Given the description of an element on the screen output the (x, y) to click on. 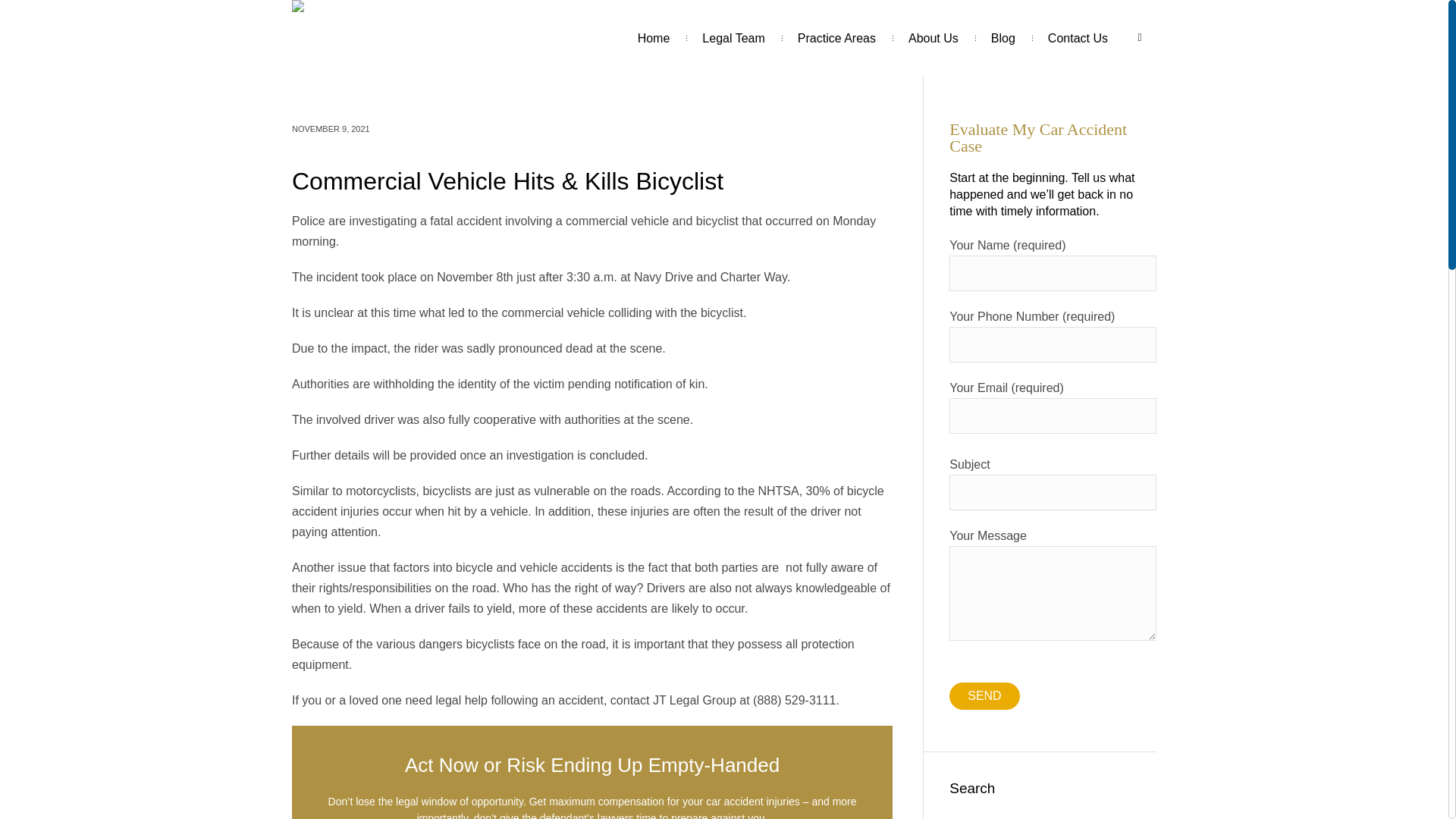
Send (984, 696)
Home (653, 37)
About Us (933, 37)
Legal Team (732, 37)
Practice Areas (836, 37)
Blog (1002, 37)
Send (984, 696)
Contact Us (1078, 37)
November 9, 2021 (330, 128)
